Given the description of an element on the screen output the (x, y) to click on. 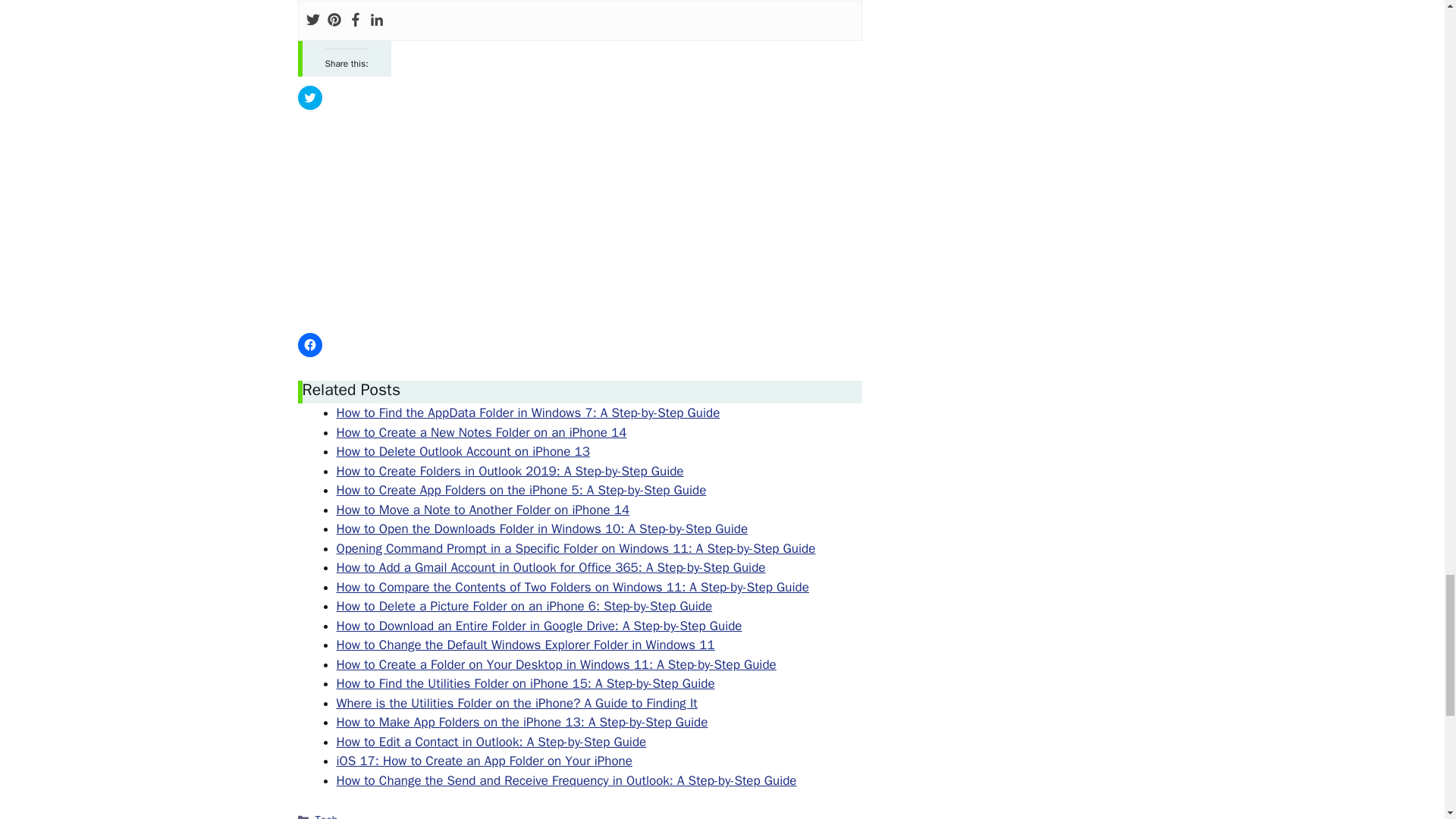
How to Create Folders in Outlook 2019: A Step-by-Step Guide (510, 471)
How to Create a New Notes Folder on an iPhone 14 (481, 432)
Tech (326, 816)
How to Edit a Contact in Outlook: A Step-by-Step Guide (491, 741)
How to Move a Note to Another Folder on iPhone 14 (483, 509)
